Given the description of an element on the screen output the (x, y) to click on. 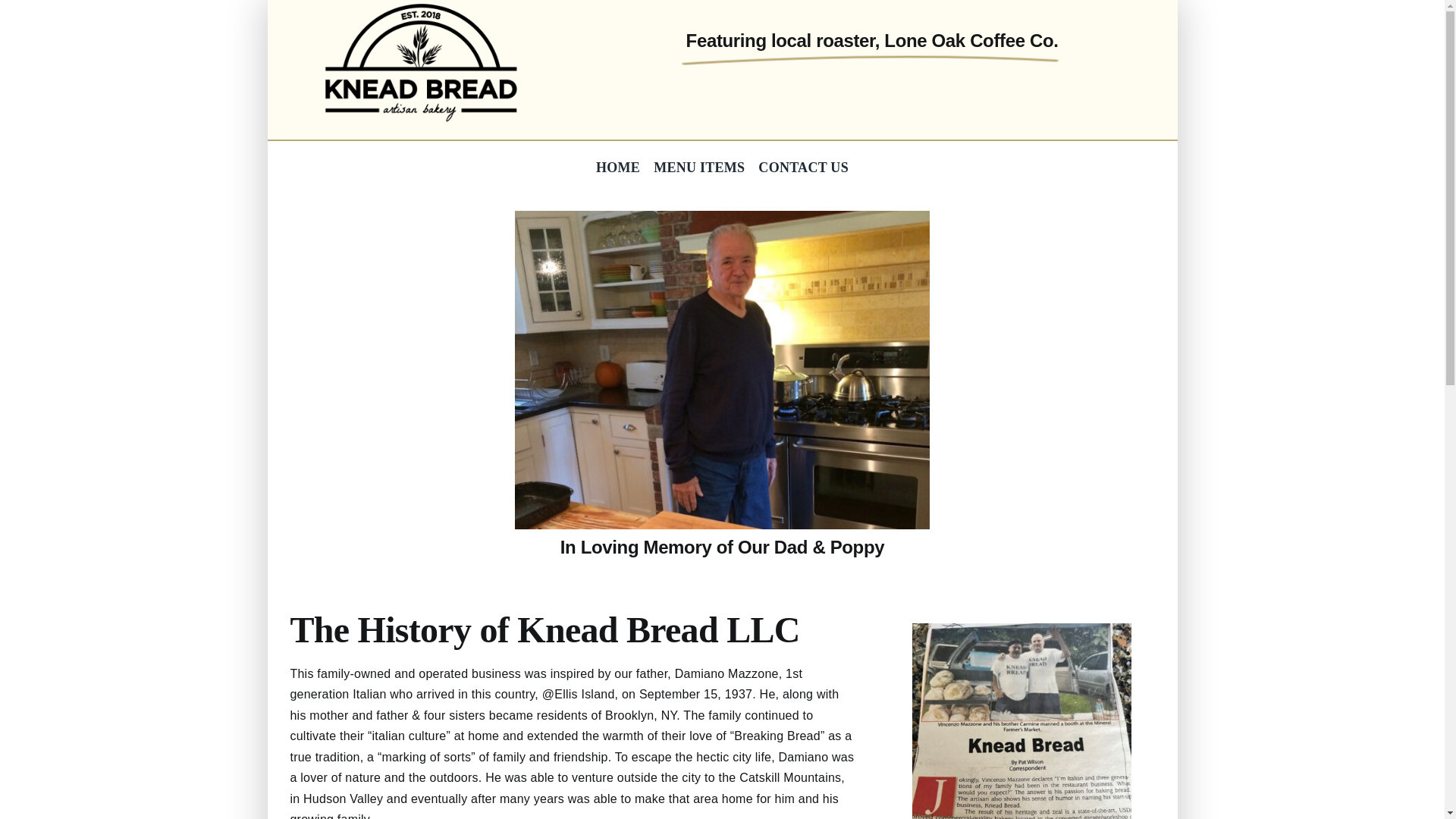
HOME (617, 167)
CONTACT US (721, 167)
dad-poppy3 (803, 167)
MENU ITEMS (722, 369)
Knead Bread Bakery logo (698, 167)
Featuring local roaster, Lone Oak Coffee Co. (421, 62)
